Given the description of an element on the screen output the (x, y) to click on. 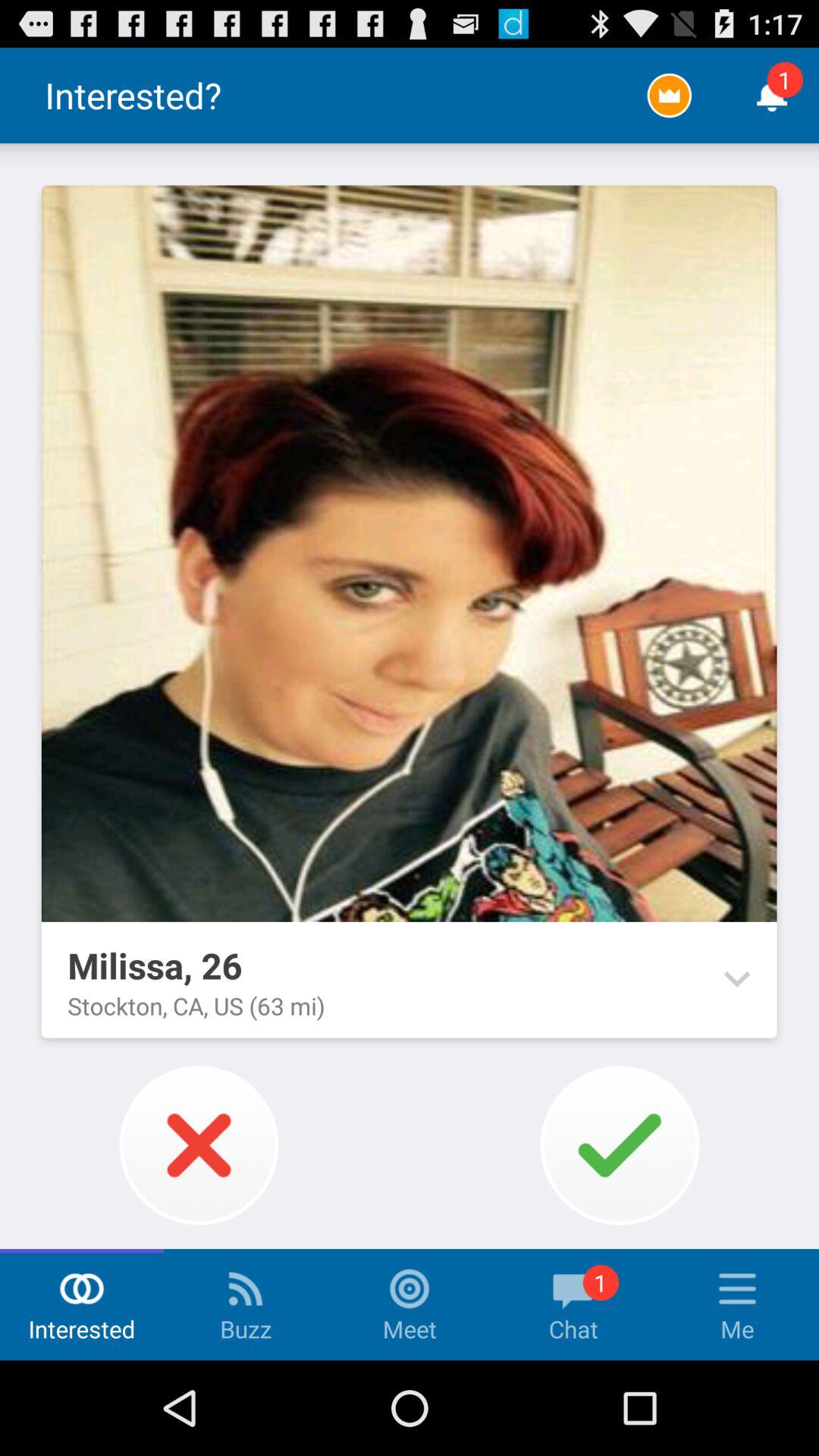
select the symbol which seems as two circles and mentioned as interested (82, 1289)
select the x button (199, 1145)
